Given the description of an element on the screen output the (x, y) to click on. 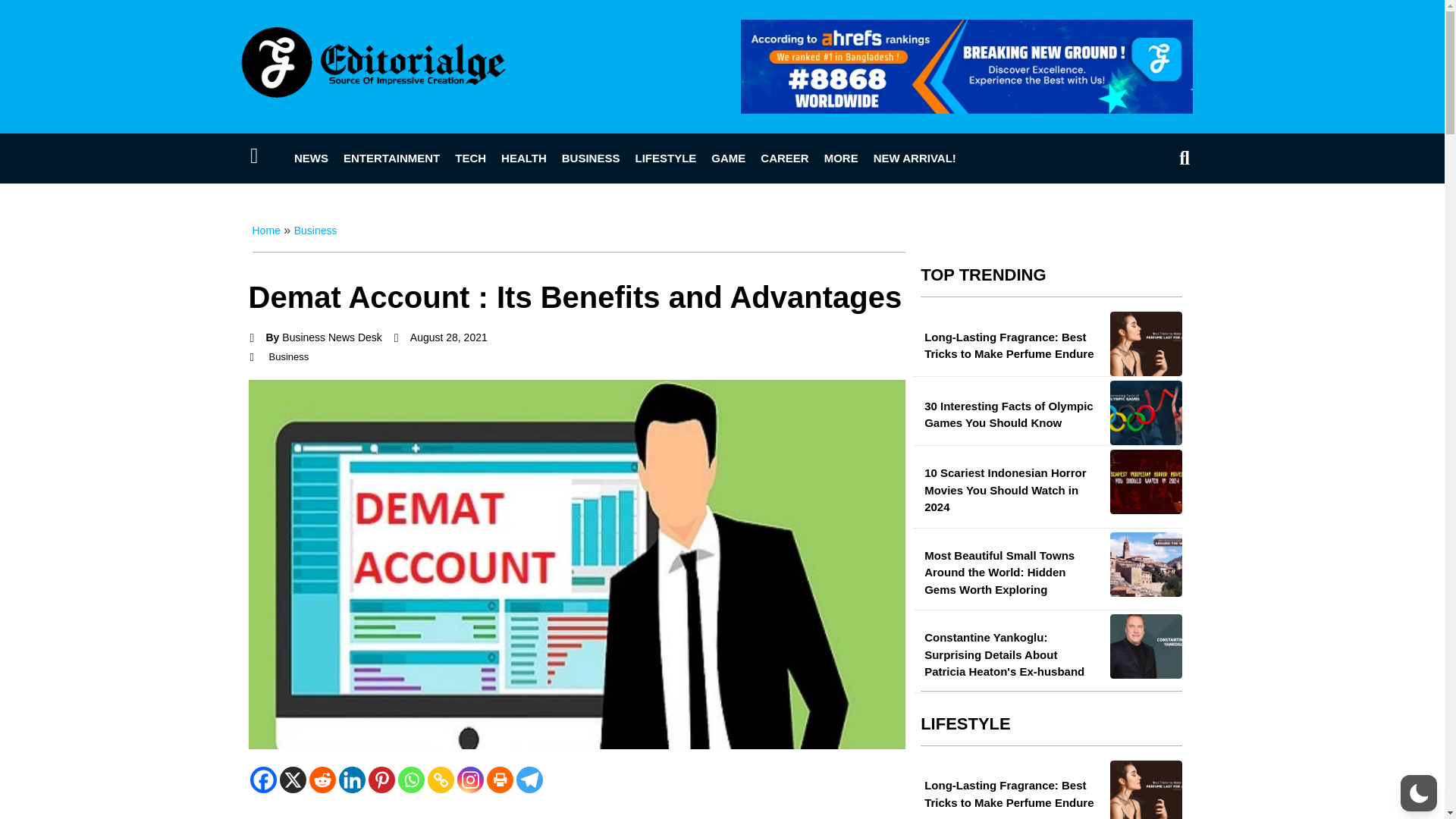
Telegram (528, 779)
TECH (469, 158)
BUSINESS (590, 158)
Reddit (322, 779)
CAREER (783, 158)
NEWS (311, 158)
Pinterest (381, 779)
HEALTH (523, 158)
GAME (727, 158)
LIFESTYLE (665, 158)
Print (499, 779)
ENTERTAINMENT (391, 158)
Instagram (470, 779)
Whatsapp (410, 779)
Copy Link (441, 779)
